Given the description of an element on the screen output the (x, y) to click on. 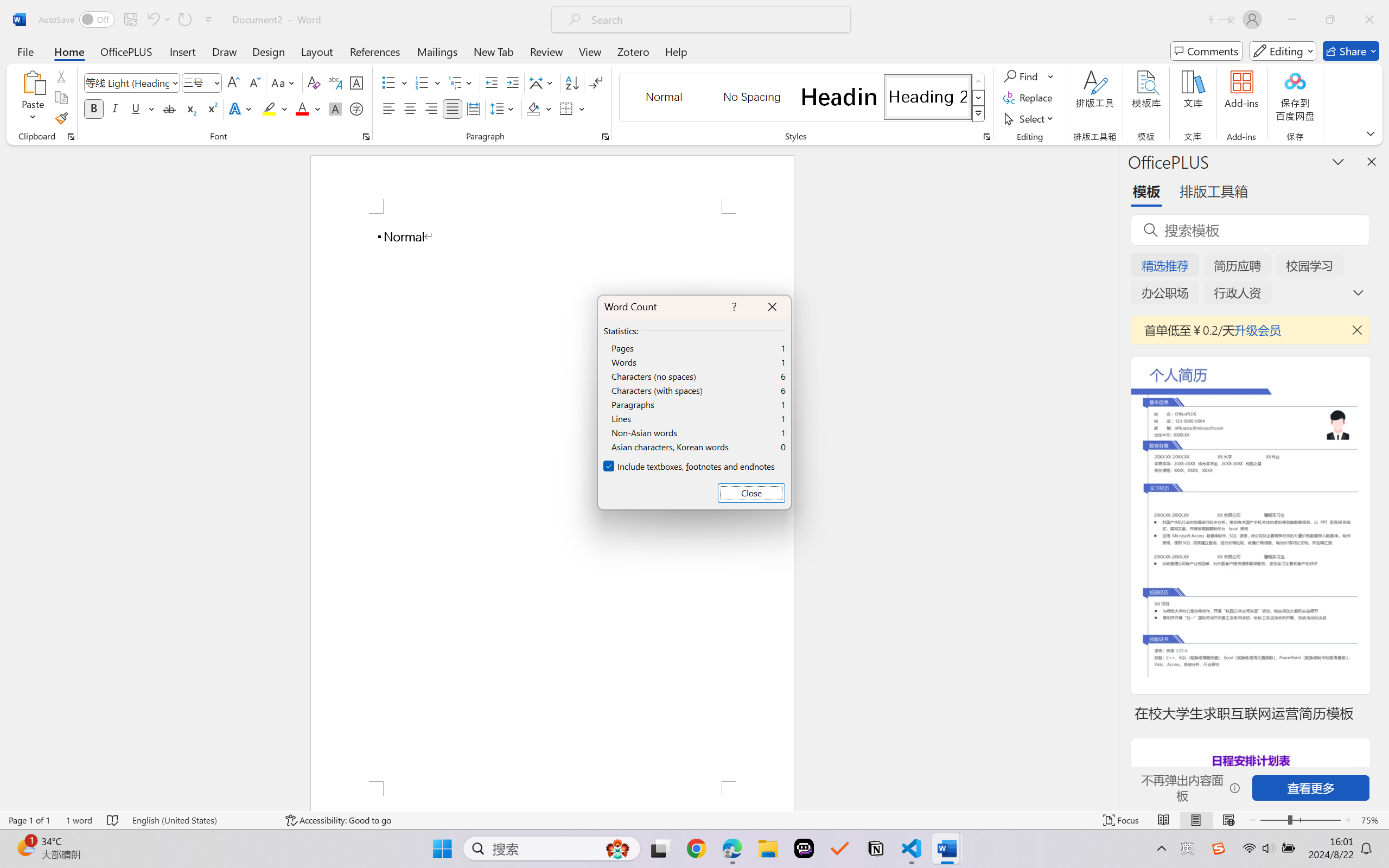
Justify (452, 108)
AutoSave (76, 19)
Row Down (978, 97)
Zoom Out (1273, 819)
Undo Typing (152, 19)
Distributed (473, 108)
Italic (115, 108)
Bullets (388, 82)
Mailings (437, 51)
Print Layout (1196, 819)
File Tab (24, 51)
Font Color (308, 108)
